Given the description of an element on the screen output the (x, y) to click on. 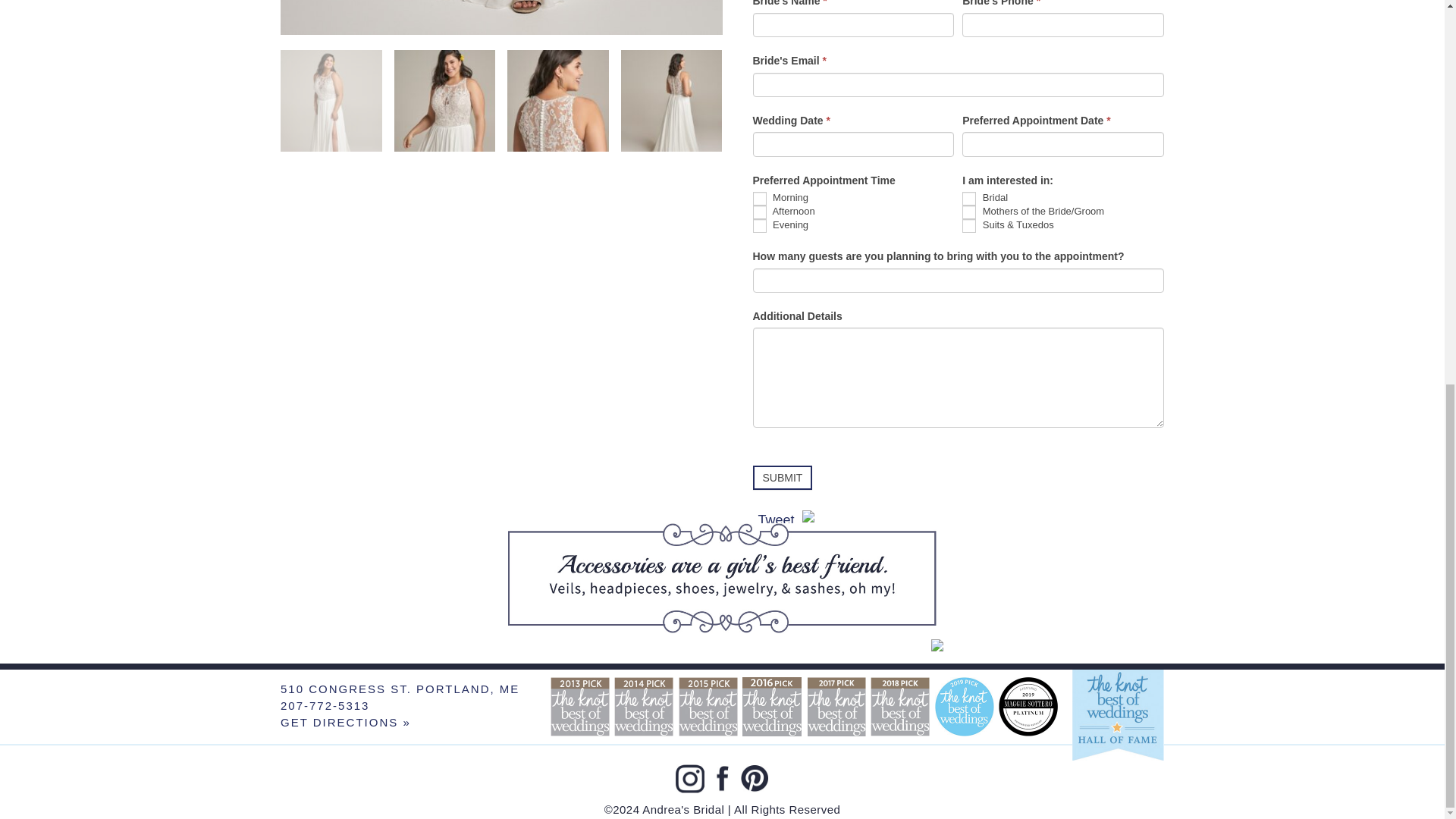
Evening (758, 225)
Afternoon (758, 212)
SUBMIT (782, 477)
Bridal (968, 198)
Tweet (776, 519)
Morning (758, 198)
207-772-5313 (325, 705)
